Given the description of an element on the screen output the (x, y) to click on. 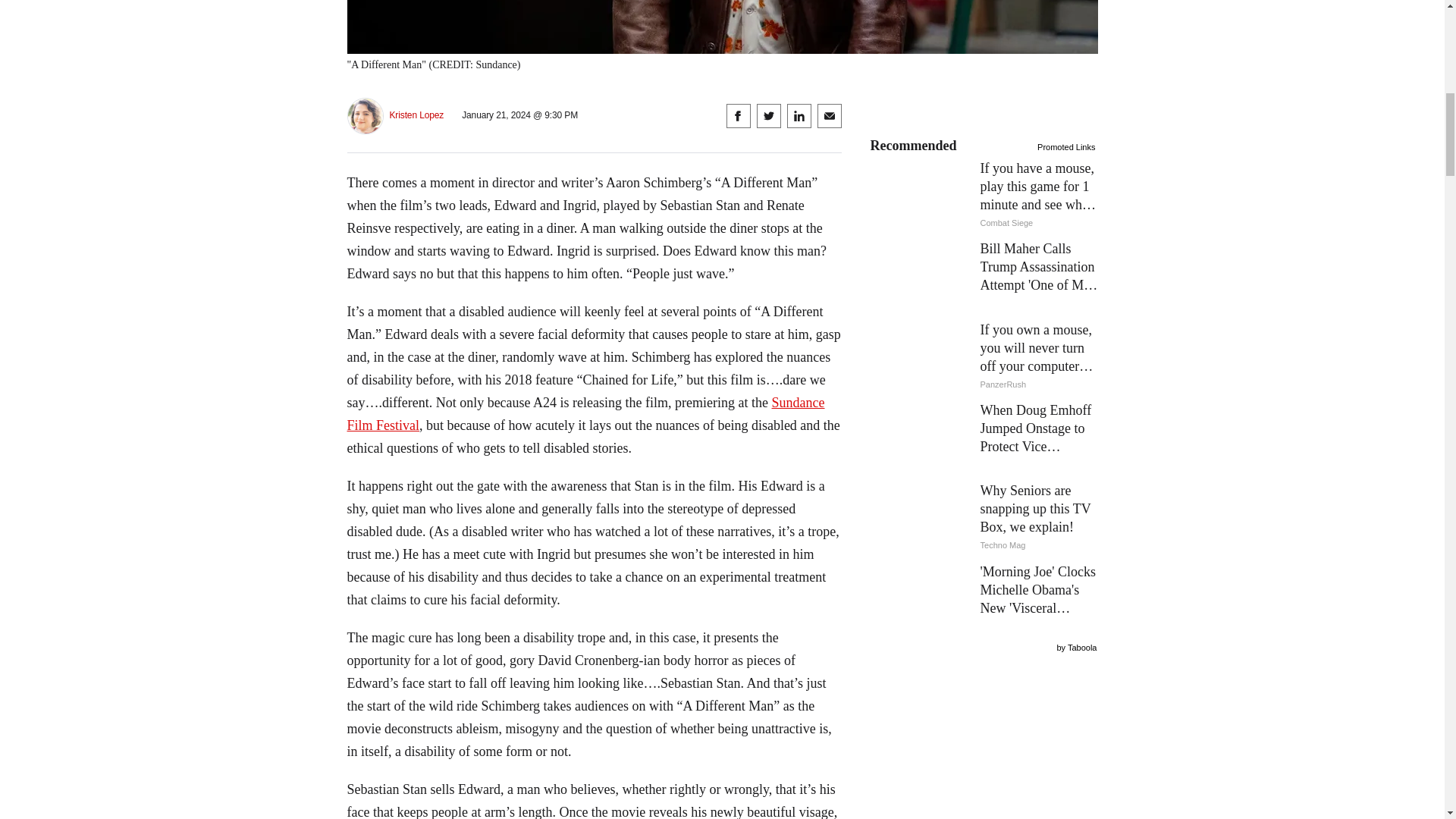
Posts by Kristen Lopez (417, 115)
Why Seniors are snapping up this TV Box, we explain! (983, 517)
